Given the description of an element on the screen output the (x, y) to click on. 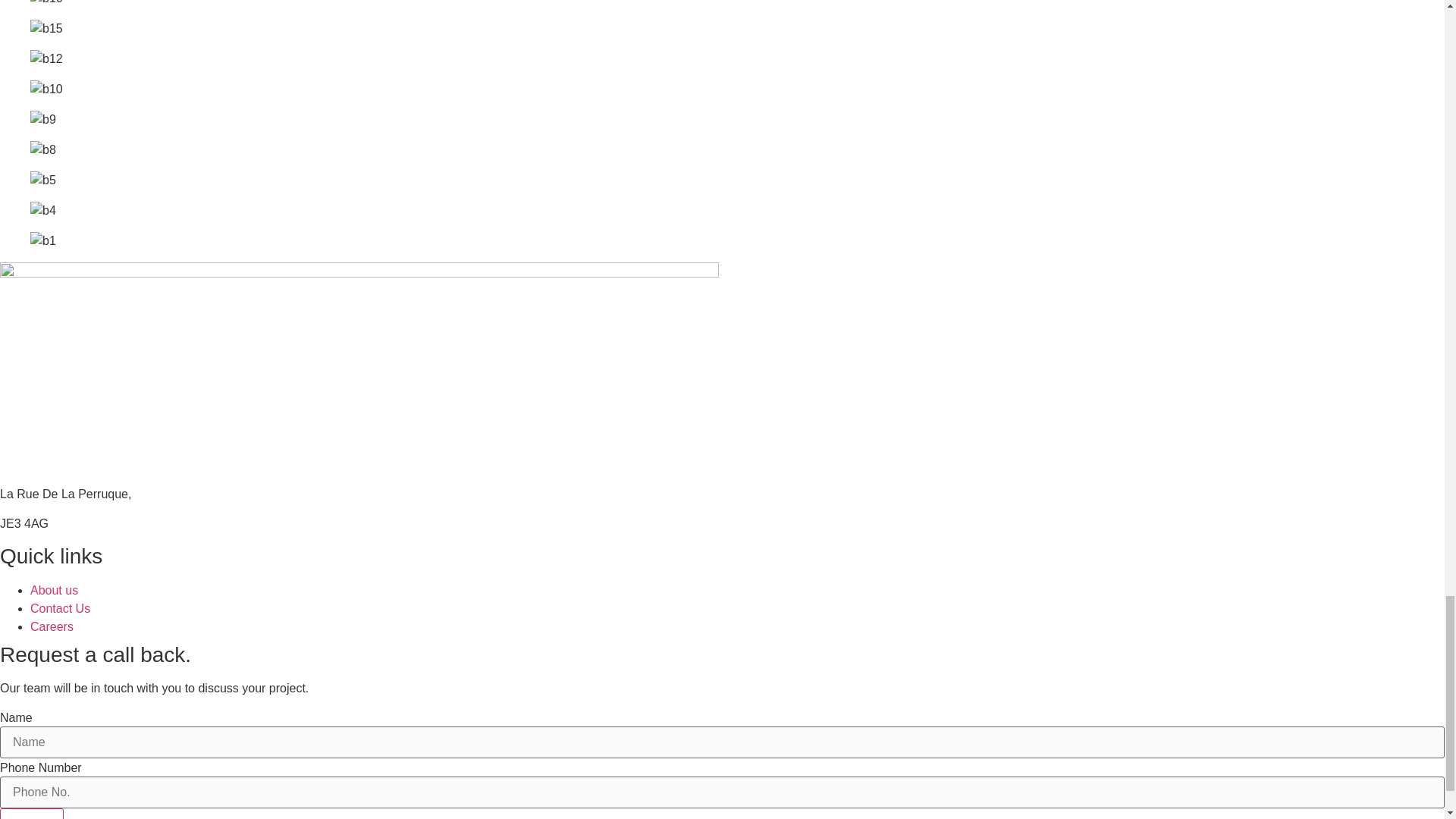
Contact Us (60, 608)
About us (54, 590)
Submit (32, 813)
Careers (52, 626)
